Given the description of an element on the screen output the (x, y) to click on. 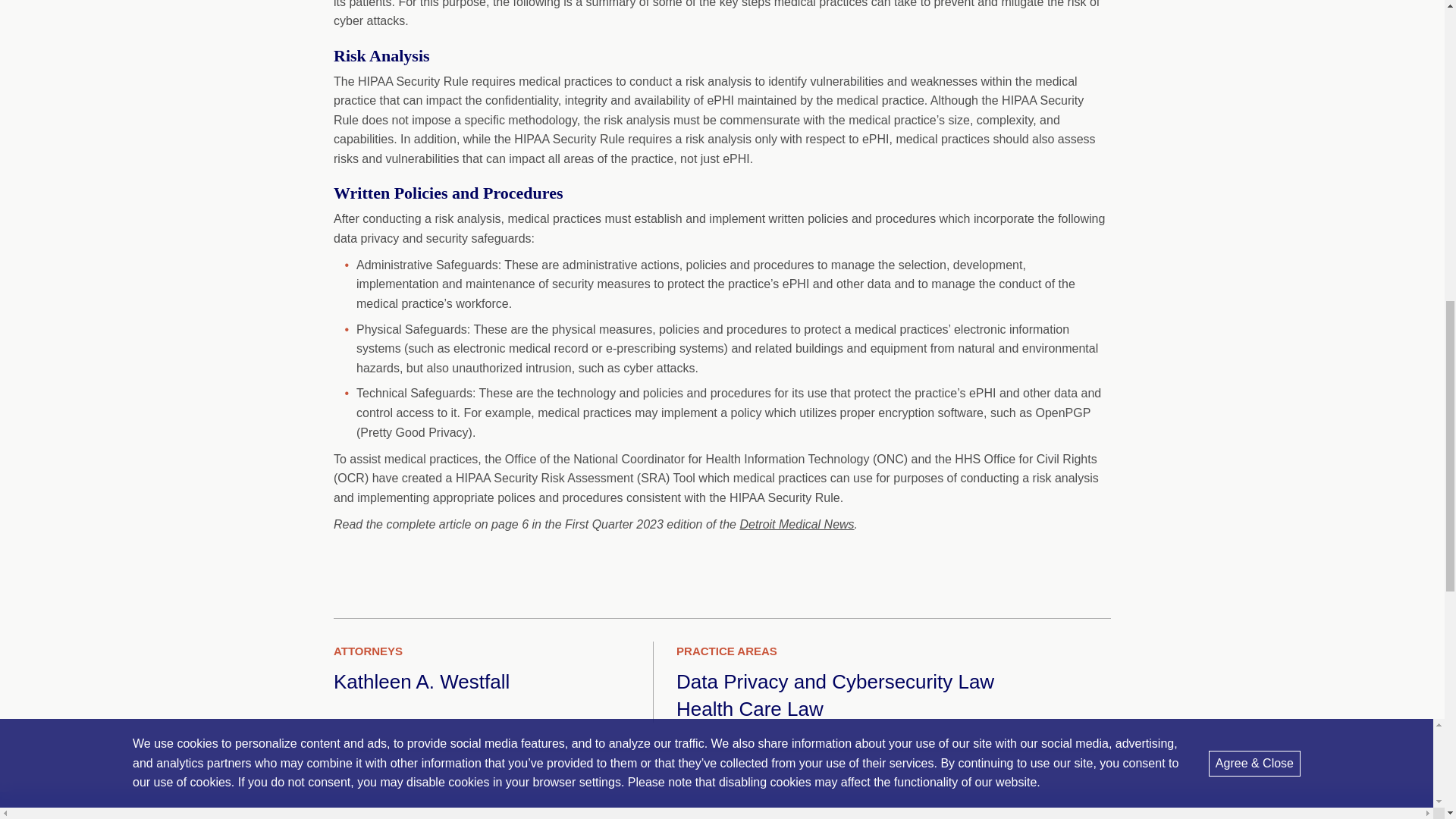
Health Care Law (750, 708)
Data Privacy and Cybersecurity Law (835, 681)
Kathleen A. Westfall (421, 681)
